Given the description of an element on the screen output the (x, y) to click on. 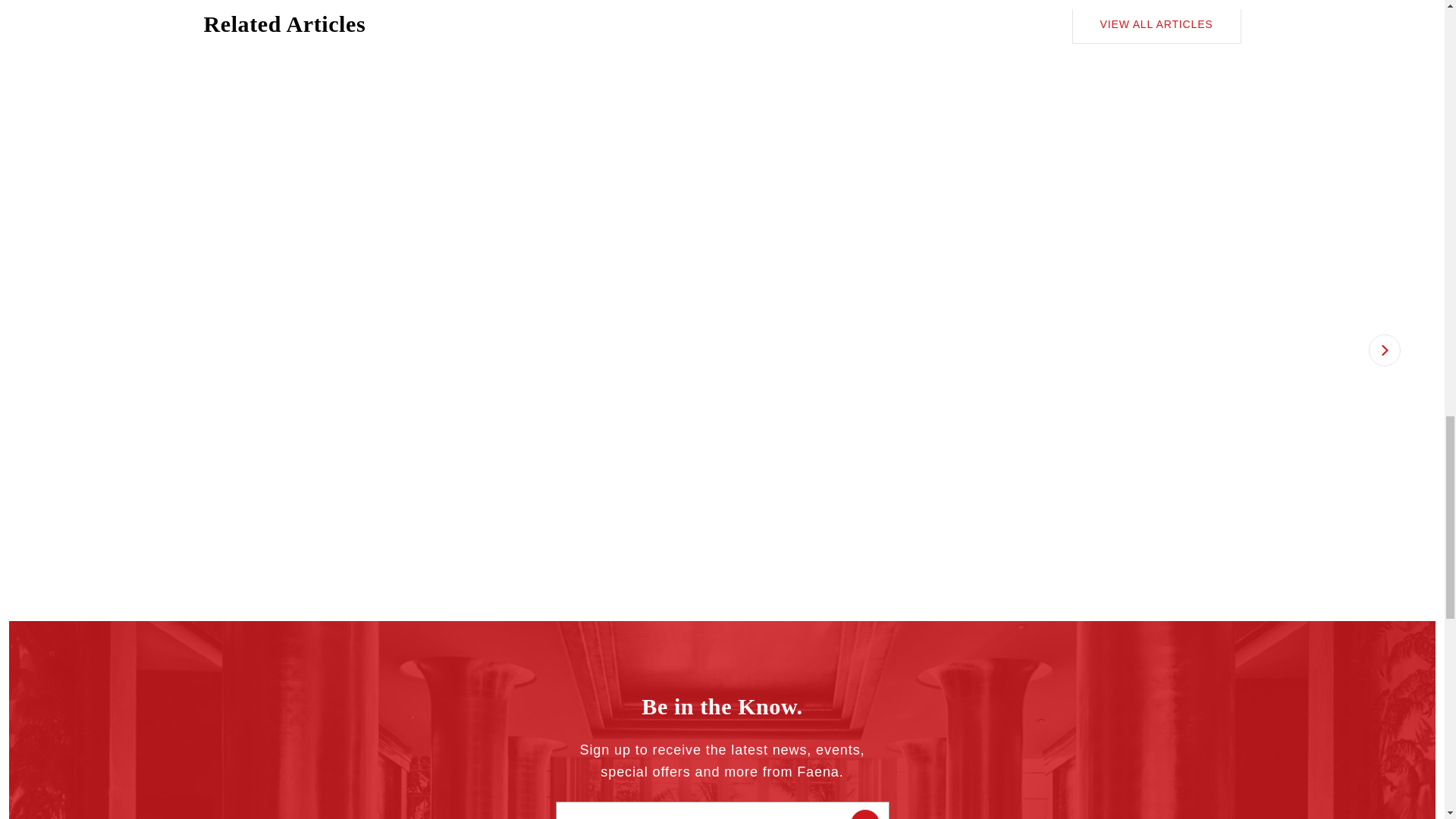
VIEW ALL ARTICLES (1156, 24)
next (1383, 349)
Submit (863, 814)
